Given the description of an element on the screen output the (x, y) to click on. 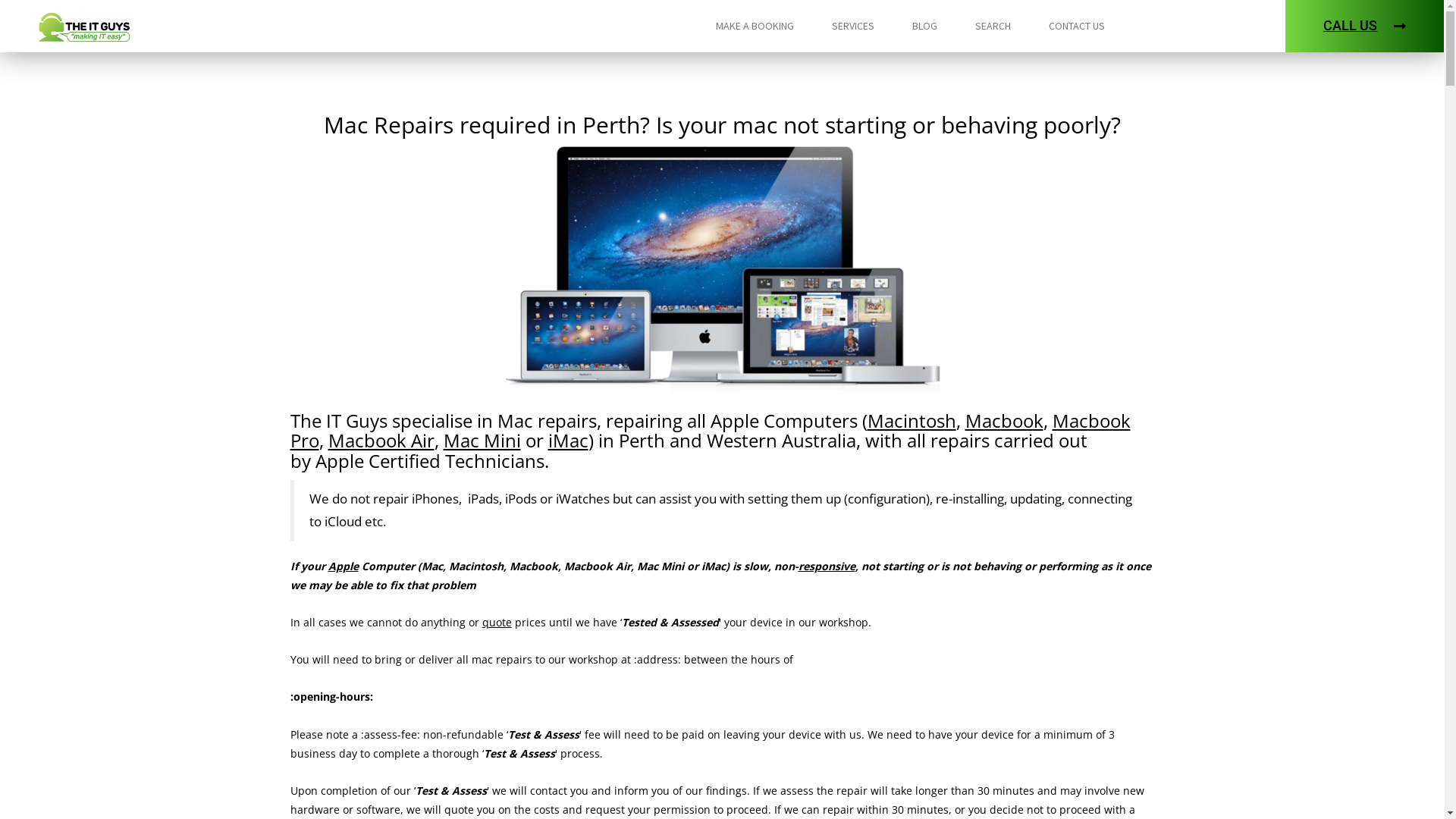
CONTACT US Element type: text (1075, 25)
quote Element type: text (496, 622)
SERVICES Element type: text (851, 25)
Macbook Pro Element type: text (709, 429)
SEARCH Element type: text (993, 25)
Macbook Air Element type: text (380, 439)
MAKE A BOOKING Element type: text (754, 25)
BLOG Element type: text (923, 25)
responsive Element type: text (825, 565)
Apple Element type: text (342, 565)
Macintosh Element type: text (911, 420)
CALL US Element type: text (1364, 26)
Mac Mini Element type: text (481, 439)
iMac Element type: text (567, 439)
Macbook Element type: text (1003, 420)
